Given the description of an element on the screen output the (x, y) to click on. 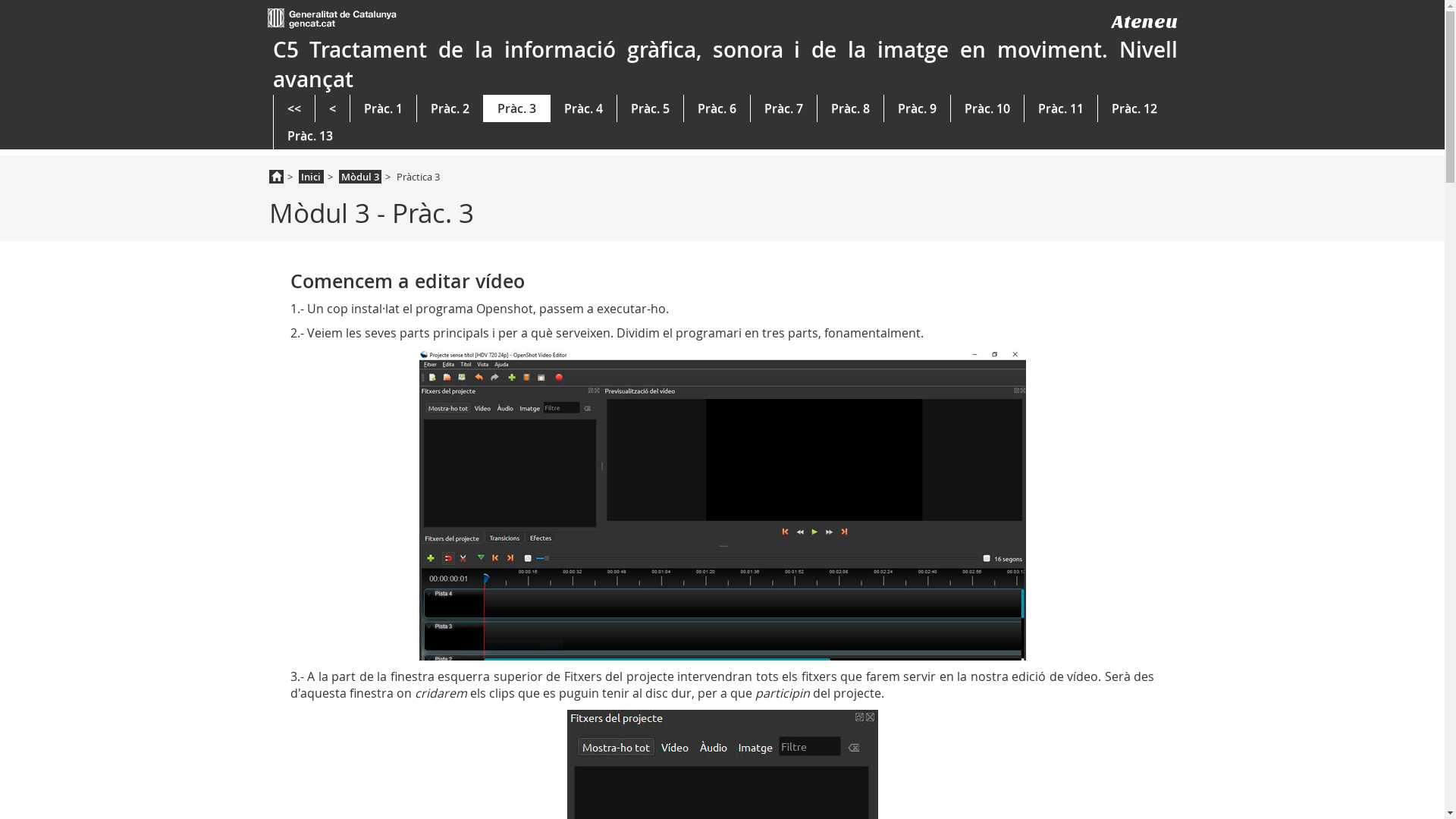
<< Element type: text (293, 108)
Ateneu Element type: text (1144, 21)
< Element type: text (332, 108)
Torna: Inici Element type: hover (275, 176)
Departament d'Ensenyament Element type: hover (330, 17)
pas:actic:c5n3:modul_3:109.jpg Element type: hover (721, 504)
Inici Element type: text (310, 176)
